Given the description of an element on the screen output the (x, y) to click on. 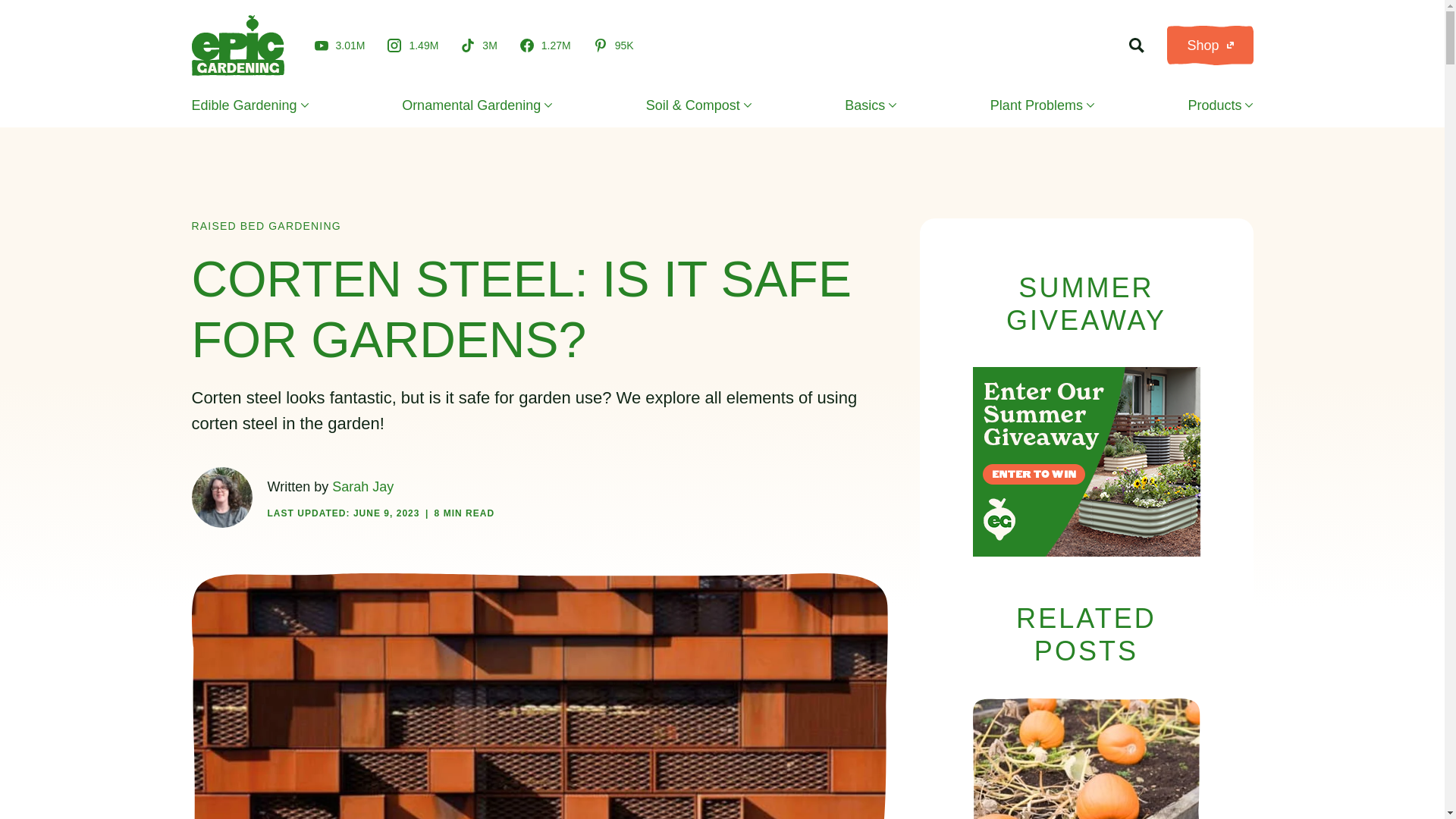
1.49M (412, 45)
3.01M (339, 45)
Posts by Sarah Jay (362, 486)
1.27M (544, 45)
3M (478, 45)
Edible Gardening (248, 105)
Basics (870, 105)
95K (613, 45)
Shop (1209, 45)
Ornamental Gardening (476, 105)
